Given the description of an element on the screen output the (x, y) to click on. 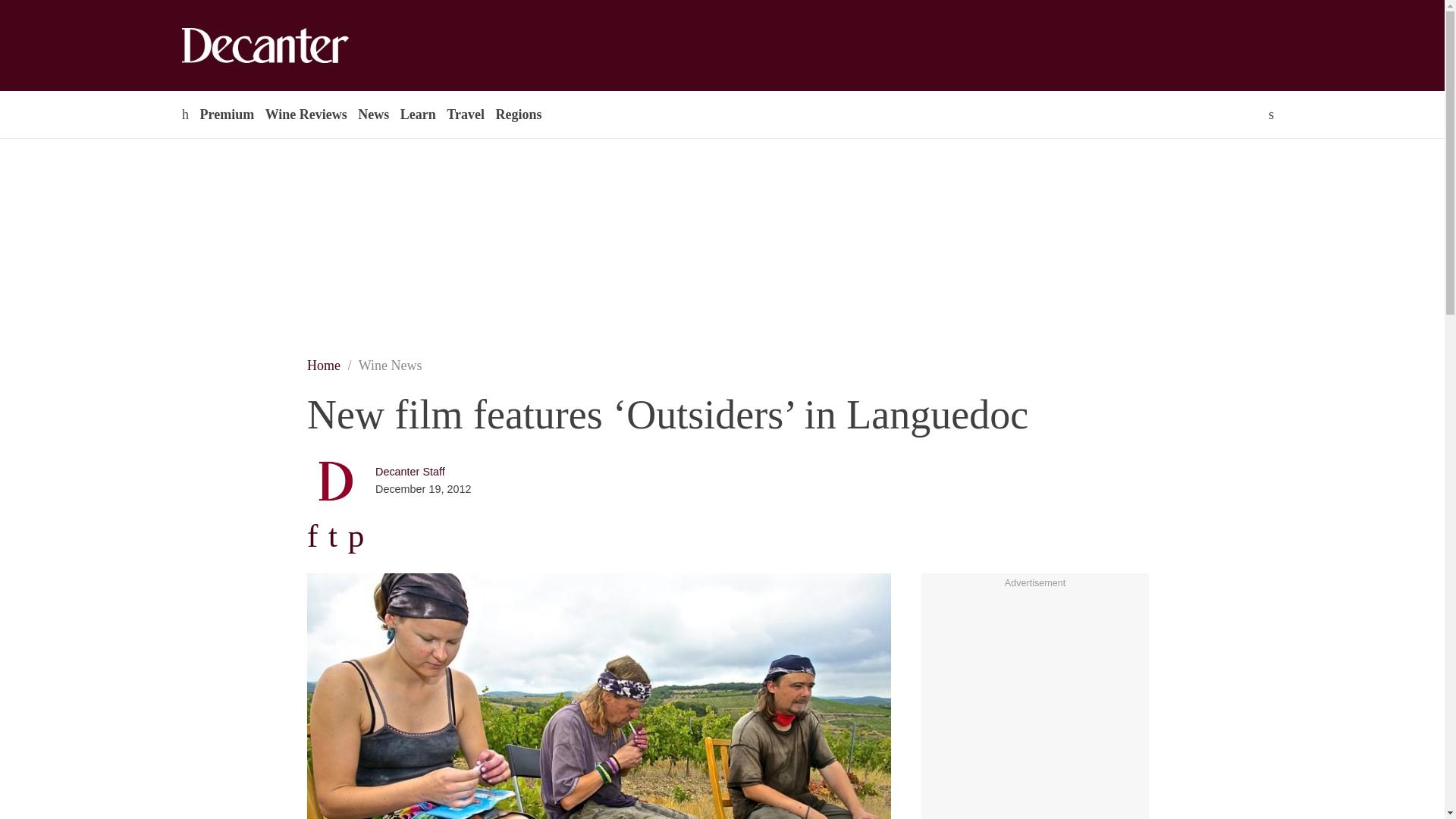
Travel (464, 114)
Premium (226, 114)
News (373, 114)
Learn (417, 114)
Decanter (297, 45)
Wine Reviews (306, 114)
